Given the description of an element on the screen output the (x, y) to click on. 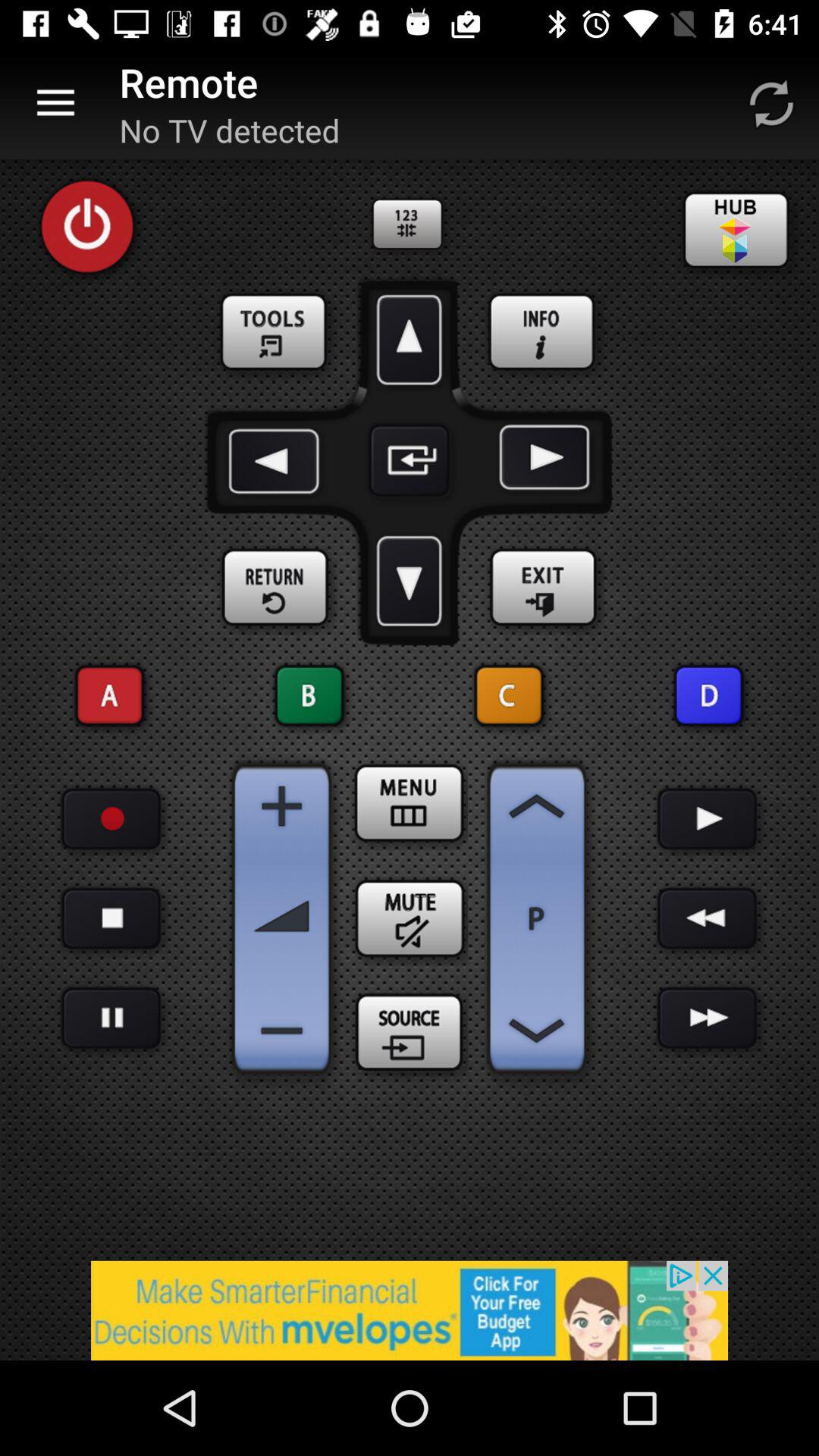
d (708, 695)
